Given the description of an element on the screen output the (x, y) to click on. 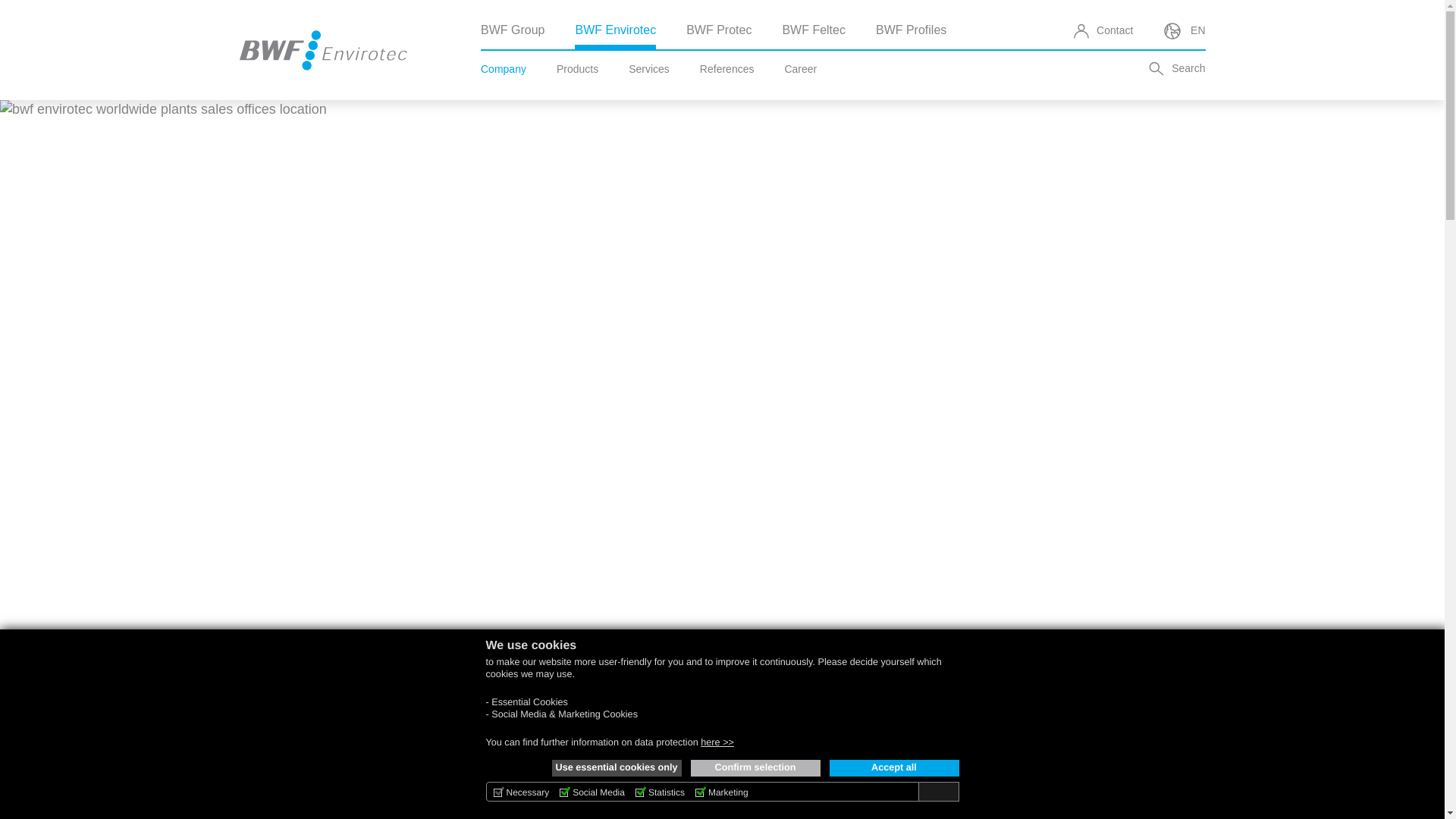
Accept all (894, 768)
Use essential cookies only (616, 768)
Confirm selection (754, 768)
BWF Group (512, 29)
